Given the description of an element on the screen output the (x, y) to click on. 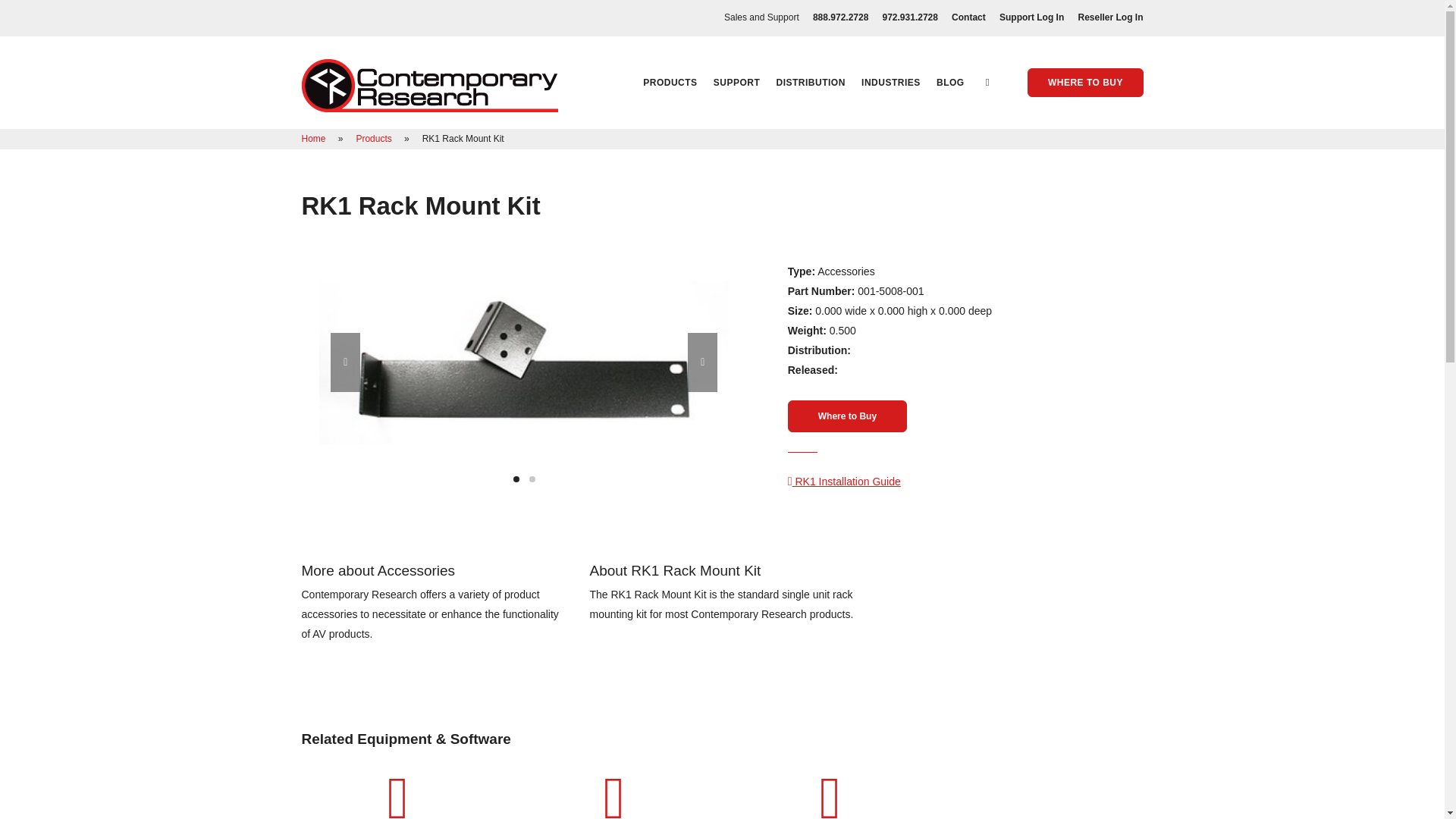
Where to Buy (847, 416)
DISTRIBUTION (810, 81)
AV Tuners (398, 813)
SUPPORT (736, 81)
Home (315, 138)
888.972.2728 (839, 17)
WHERE TO BUY (1084, 82)
Contact (968, 17)
Products (374, 138)
INDUSTRIES (890, 81)
IPTV Encoders (830, 813)
PRODUCTS (670, 81)
972.931.2728 (909, 17)
BLOG (949, 81)
RK1 Installation Guide (844, 481)
